Given the description of an element on the screen output the (x, y) to click on. 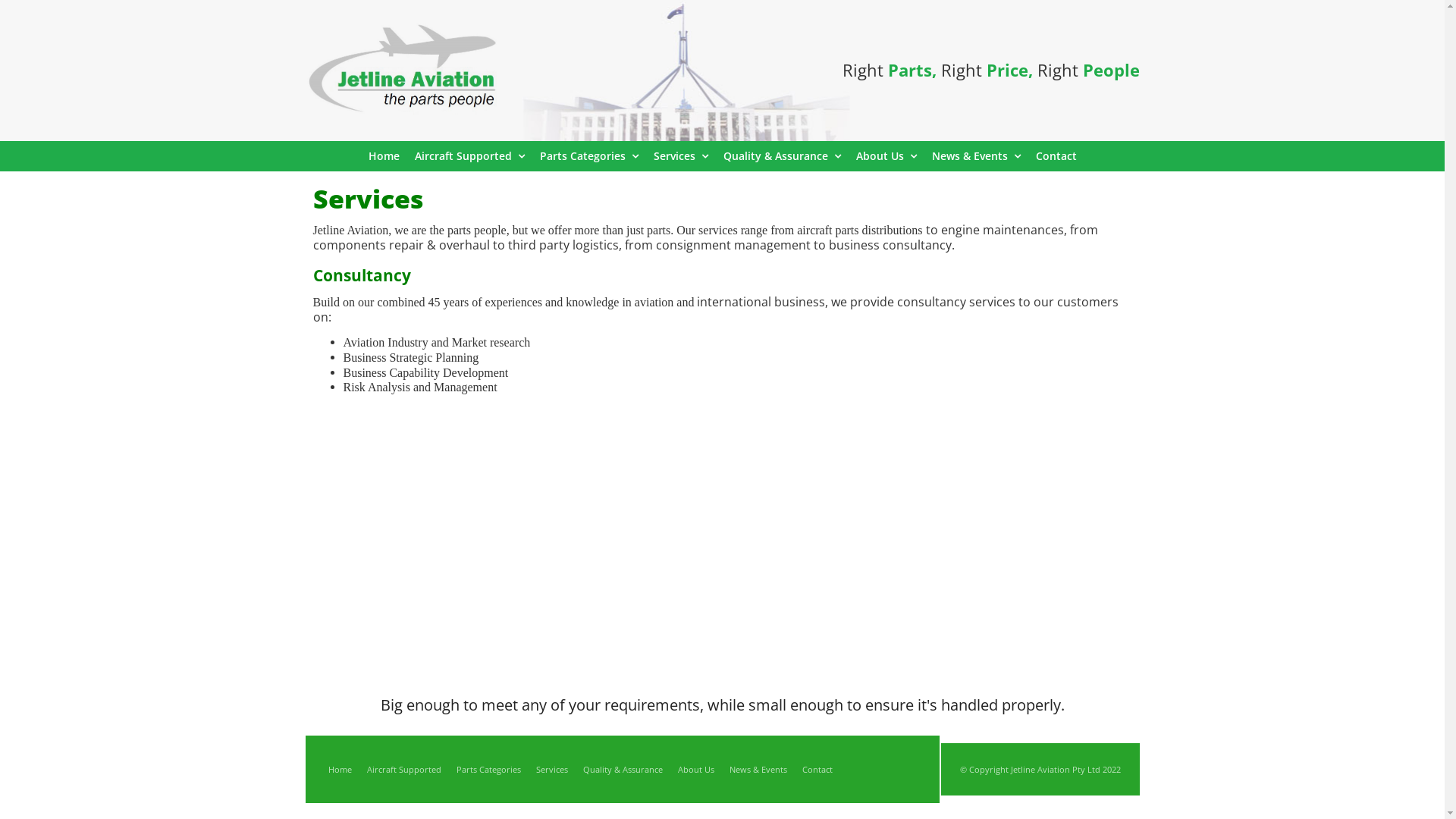
Services Element type: text (680, 156)
About Us Element type: text (885, 156)
Aircraft Supported Element type: text (468, 156)
Quality & Assurance Element type: text (621, 769)
Parts Categories Element type: text (589, 156)
Contact Element type: text (817, 769)
News & Events Element type: text (975, 156)
About Us Element type: text (695, 769)
Home Element type: text (383, 156)
Contact Element type: text (1056, 156)
Home Element type: text (339, 769)
News & Events Element type: text (757, 769)
Quality & Assurance Element type: text (781, 156)
Parts Categories Element type: text (488, 769)
Aircraft Supported Element type: text (403, 769)
Services Element type: text (550, 769)
